Given the description of an element on the screen output the (x, y) to click on. 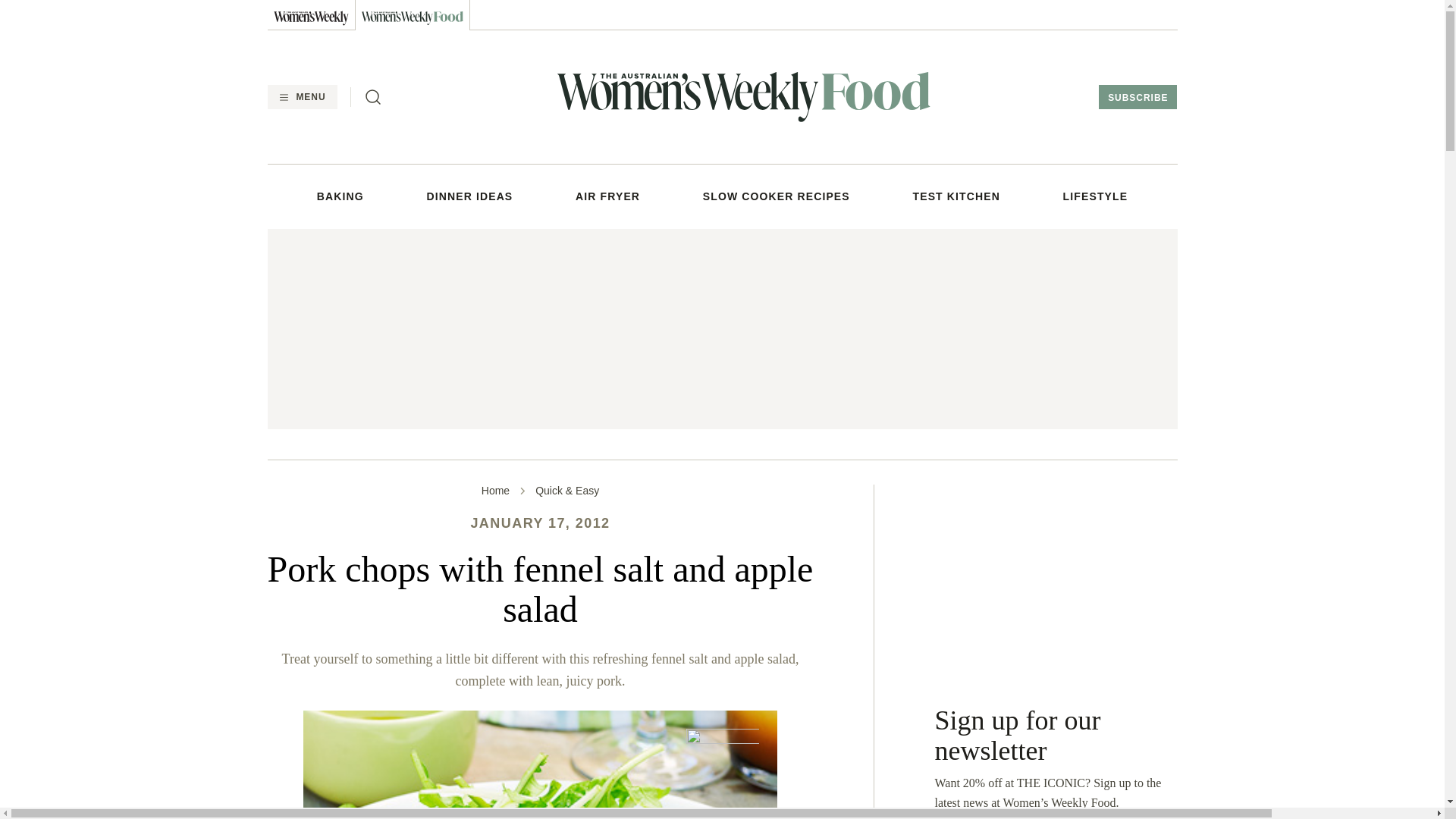
SUBSCRIBE (1137, 96)
TEST KITCHEN (956, 196)
AIR FRYER (607, 196)
LIFESTYLE (1095, 196)
BAKING (340, 196)
DINNER IDEAS (469, 196)
MENU (301, 96)
SLOW COOKER RECIPES (776, 196)
